Given the description of an element on the screen output the (x, y) to click on. 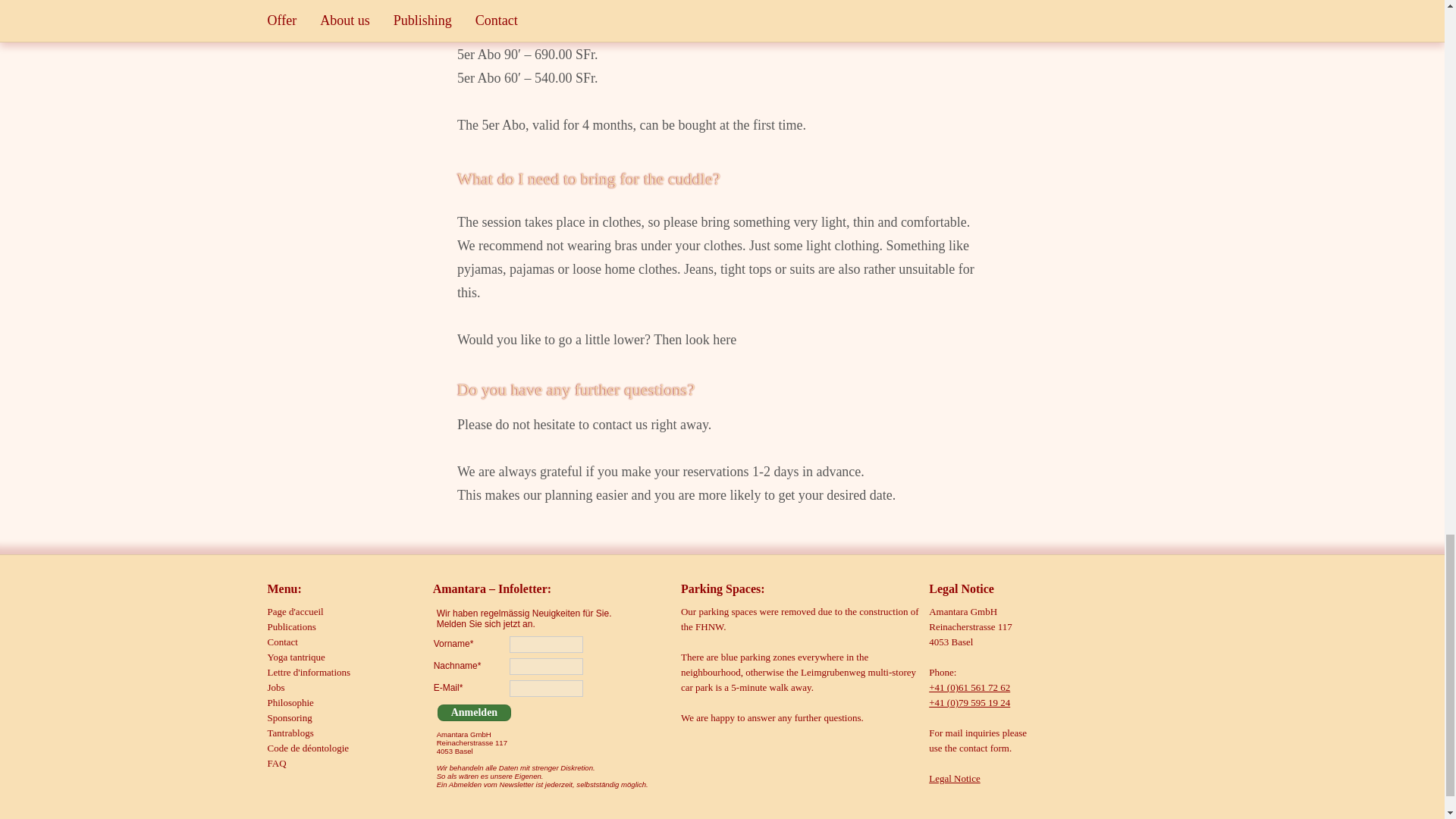
Legal Notice (953, 778)
Page d'accueil (294, 611)
Philosophie (289, 702)
Jobs (274, 686)
Contact (281, 641)
Publications (290, 626)
Yoga tantrique (295, 656)
Lettre d'informations (308, 672)
FAQ (275, 763)
Anmelden (474, 712)
